Given the description of an element on the screen output the (x, y) to click on. 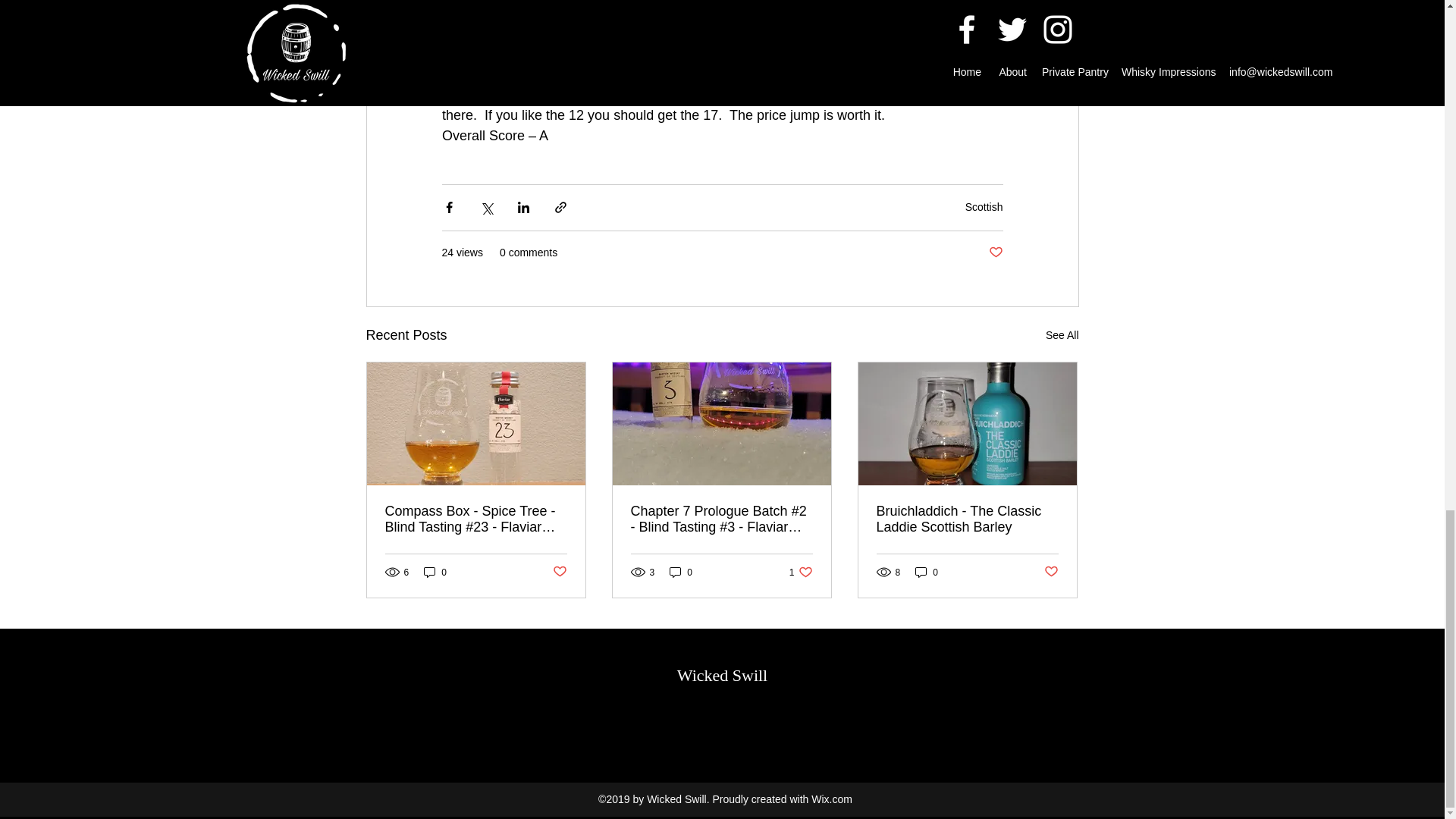
Post not marked as liked (995, 252)
0 (800, 572)
Post not marked as liked (681, 572)
Bruichladdich - The Classic Laddie Scottish Barley (558, 571)
Post not marked as liked (967, 519)
0 (1050, 571)
See All (435, 572)
Scottish (1061, 335)
0 (984, 206)
